Given the description of an element on the screen output the (x, y) to click on. 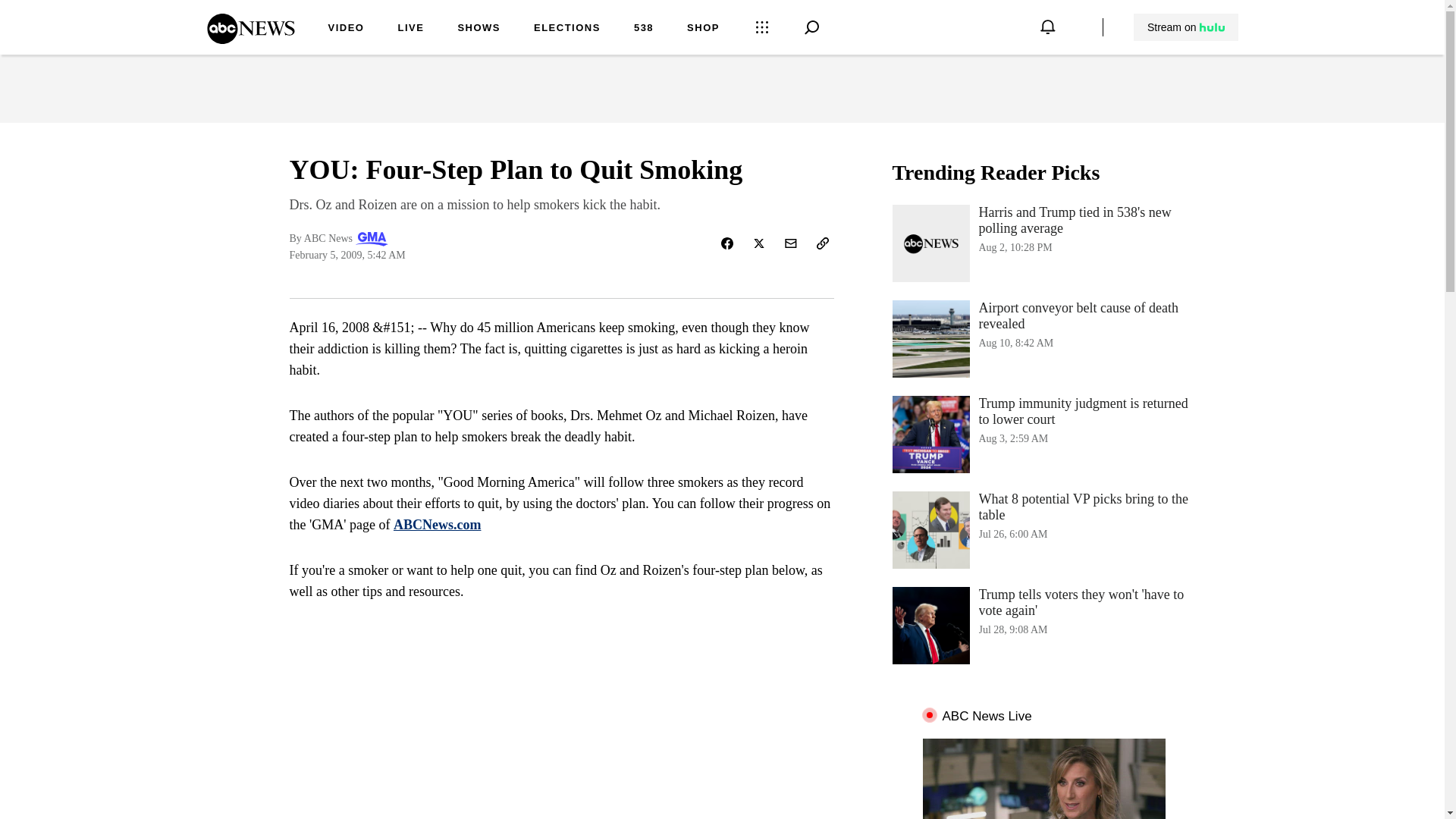
ABC News (250, 38)
SHOP (703, 28)
ELECTIONS (566, 28)
538 (643, 28)
SHOWS (1043, 529)
LIVE (478, 28)
VIDEO (410, 28)
